Given the description of an element on the screen output the (x, y) to click on. 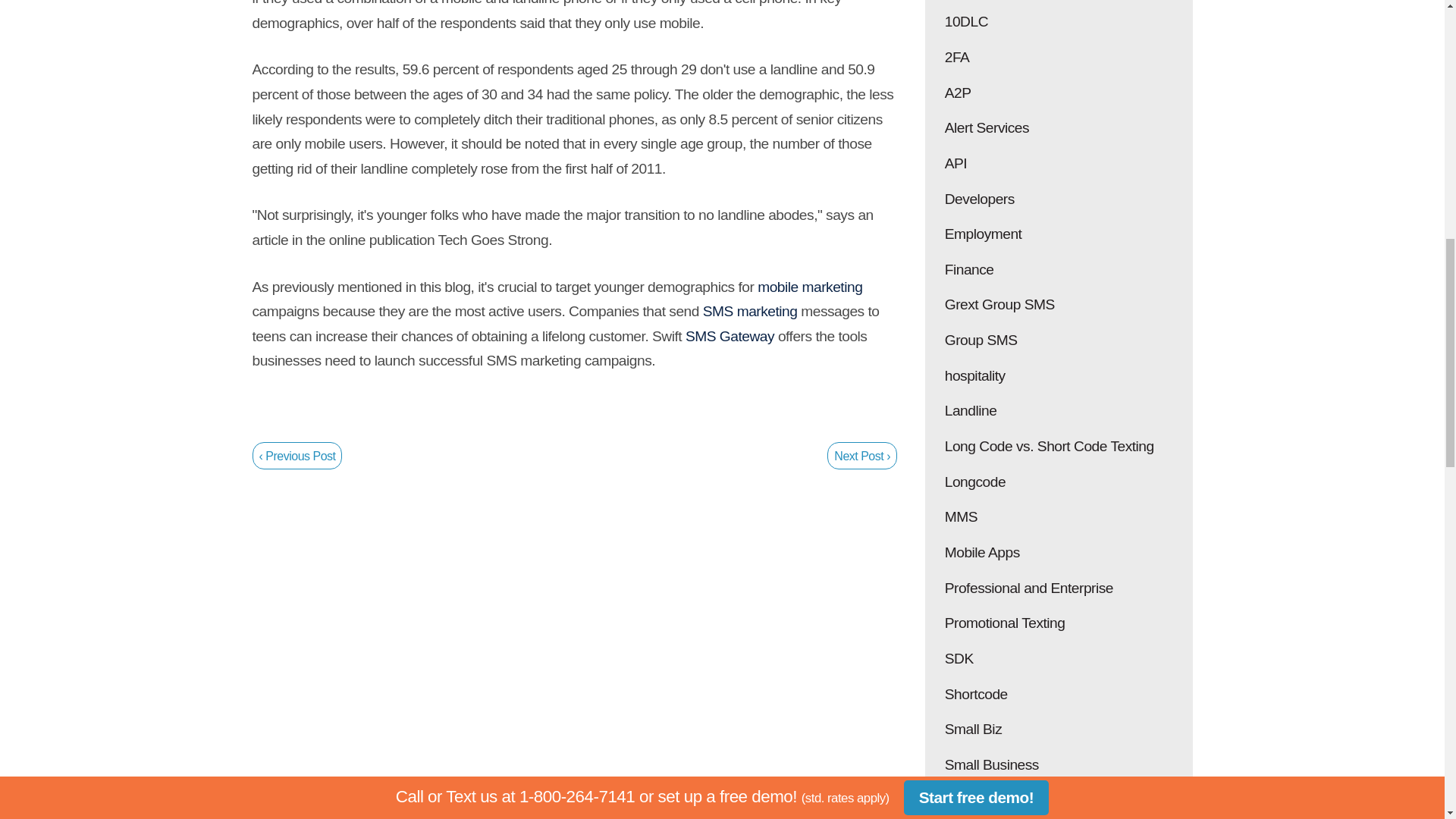
2FA (1058, 58)
SMS Gateway (729, 335)
mobile marketing (809, 286)
SMS marketing (750, 311)
10DLC (1058, 22)
